Given the description of an element on the screen output the (x, y) to click on. 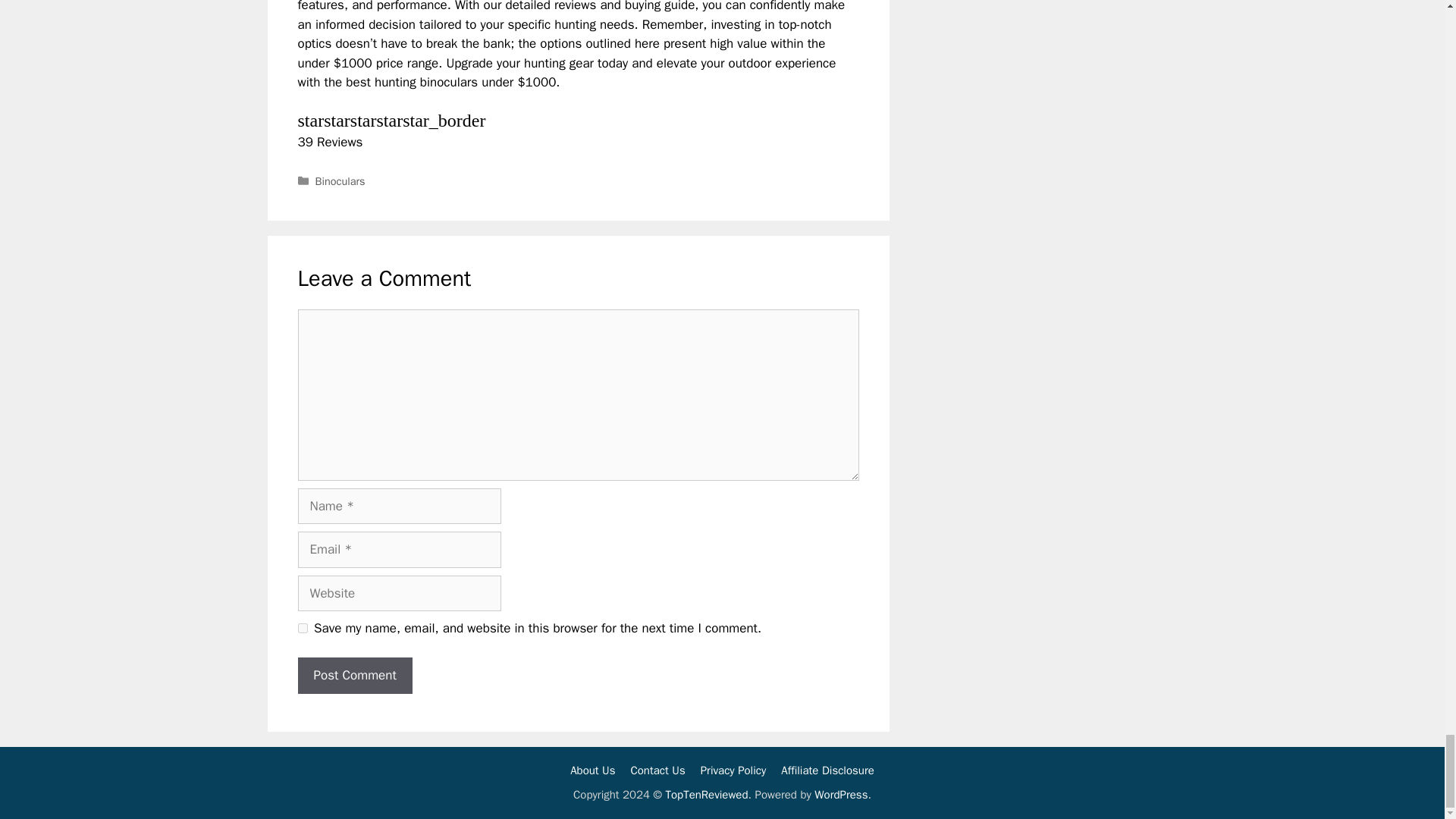
yes (302, 628)
Post Comment (354, 675)
